Given the description of an element on the screen output the (x, y) to click on. 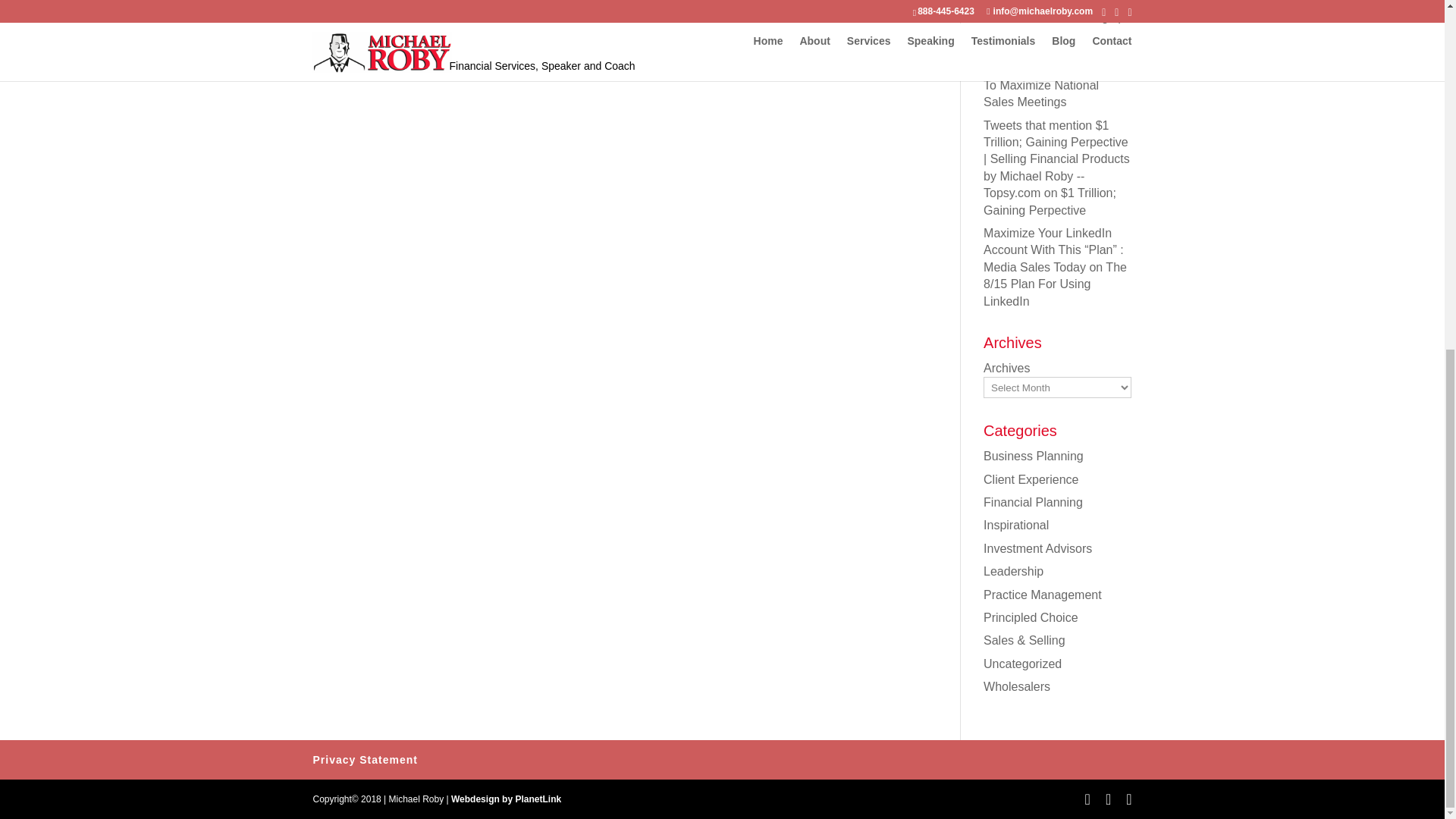
Five Steps To Maximize National Sales Meetings (1051, 84)
